Given the description of an element on the screen output the (x, y) to click on. 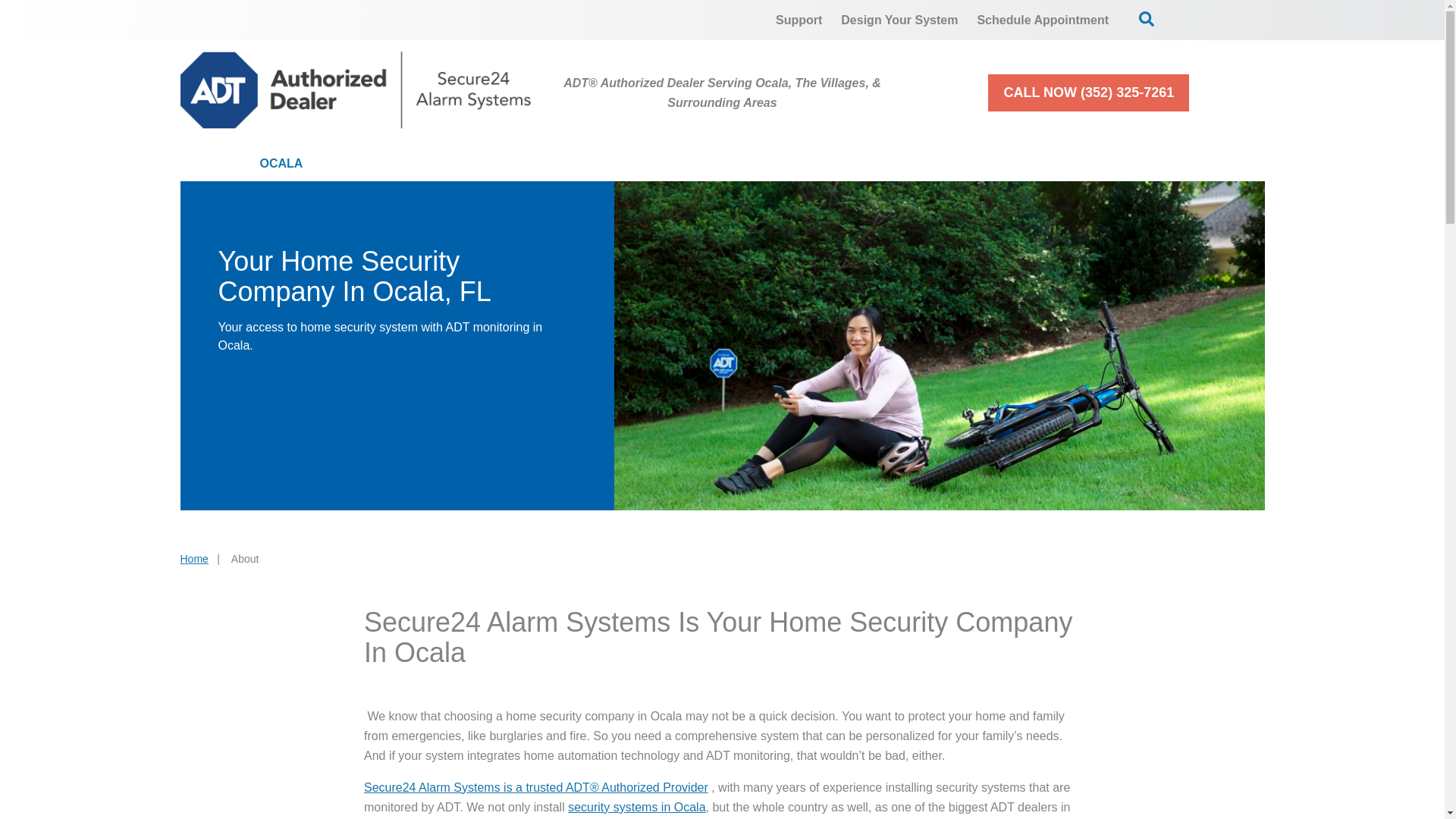
Open Search (1146, 18)
Schedule Appointment (1042, 20)
Secure24 Alarm Systems Home (355, 89)
Cameras (579, 163)
Home Security (424, 163)
Design Your System (898, 20)
Home Automation (742, 163)
Support (798, 20)
